Given the description of an element on the screen output the (x, y) to click on. 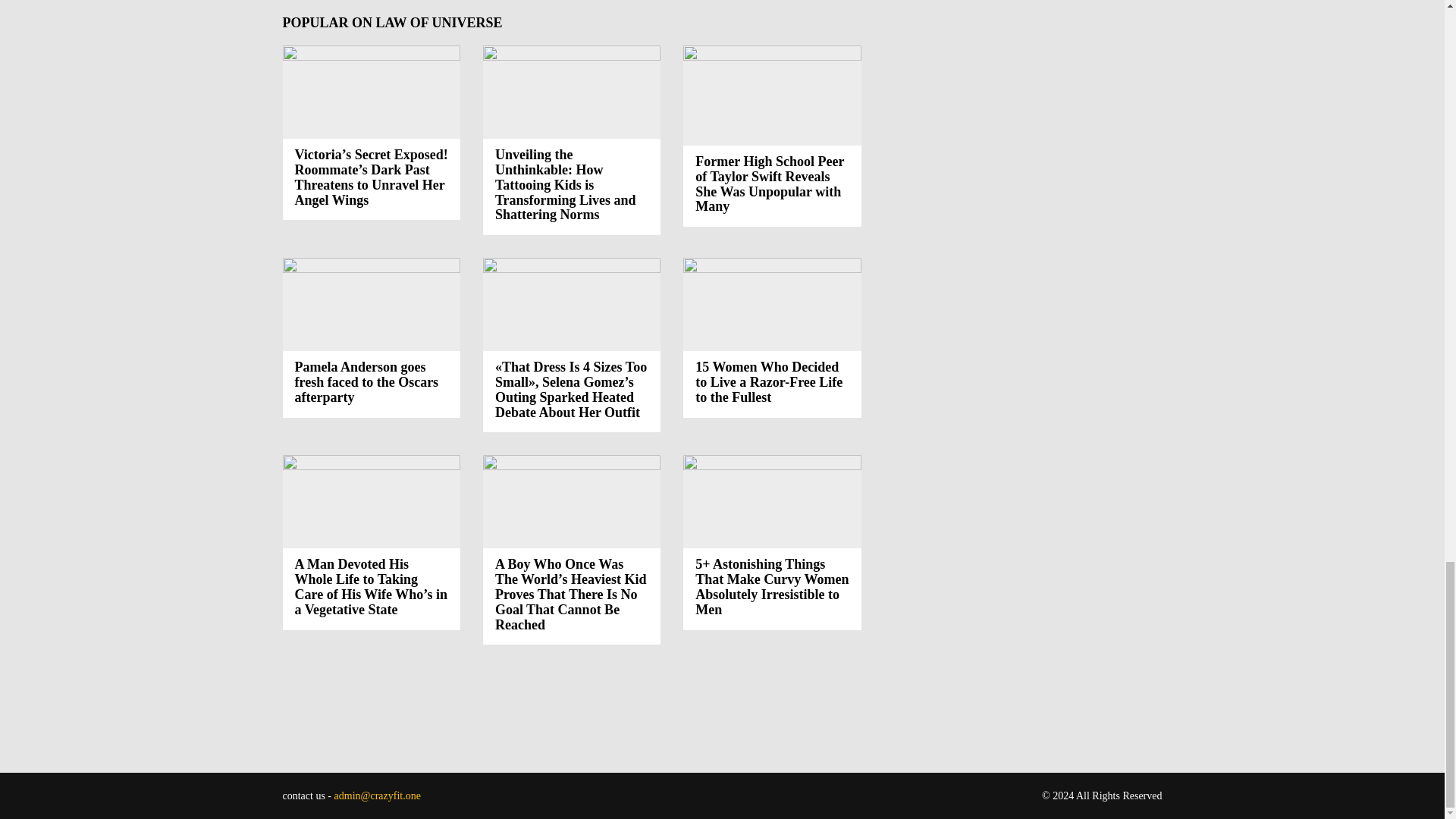
Pamela Anderson goes fresh faced to the Oscars afterparty (371, 304)
Pamela Anderson goes fresh faced to the Oscars afterparty (366, 381)
